Given the description of an element on the screen output the (x, y) to click on. 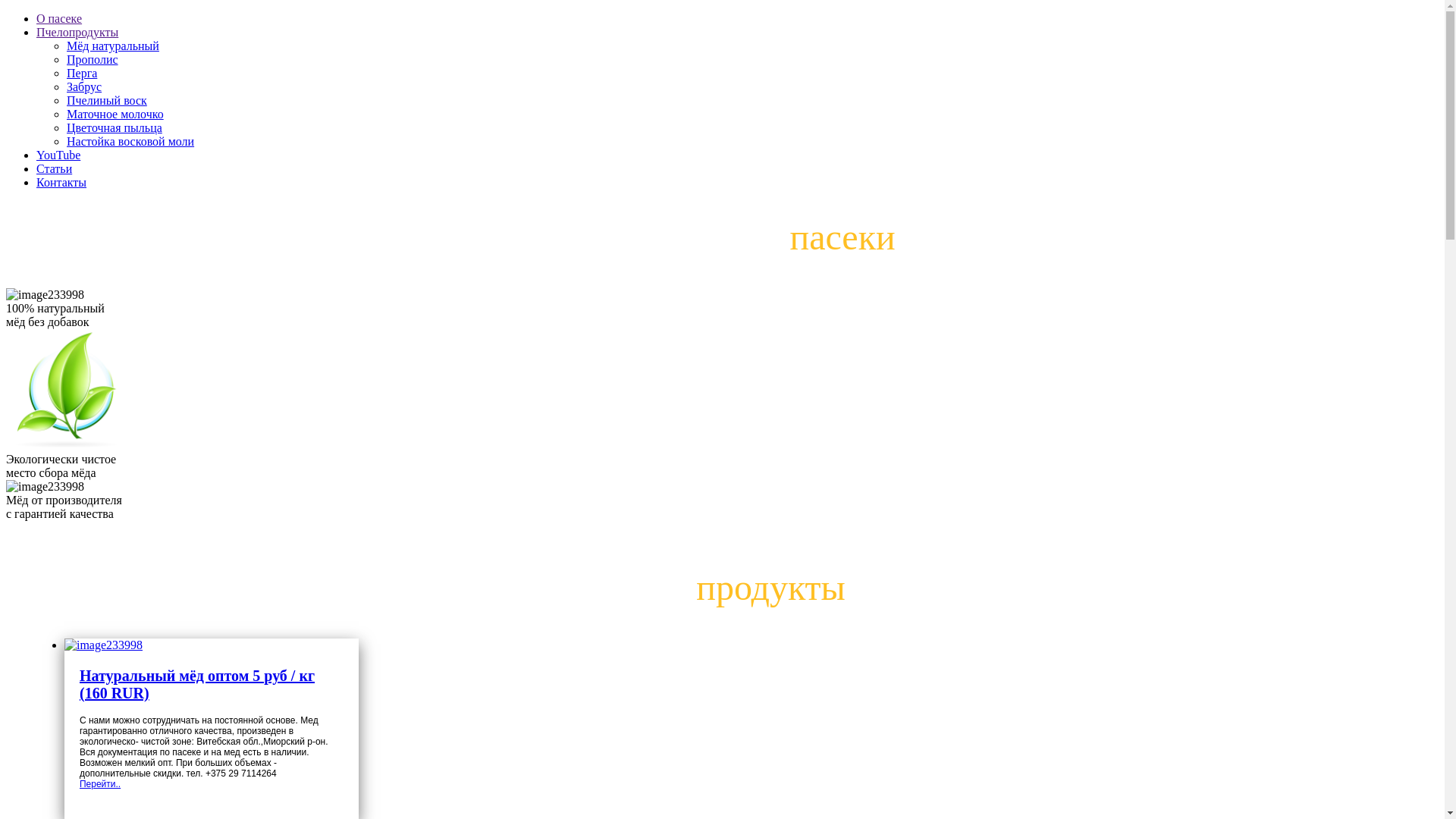
YouTube Element type: text (58, 154)
